Given the description of an element on the screen output the (x, y) to click on. 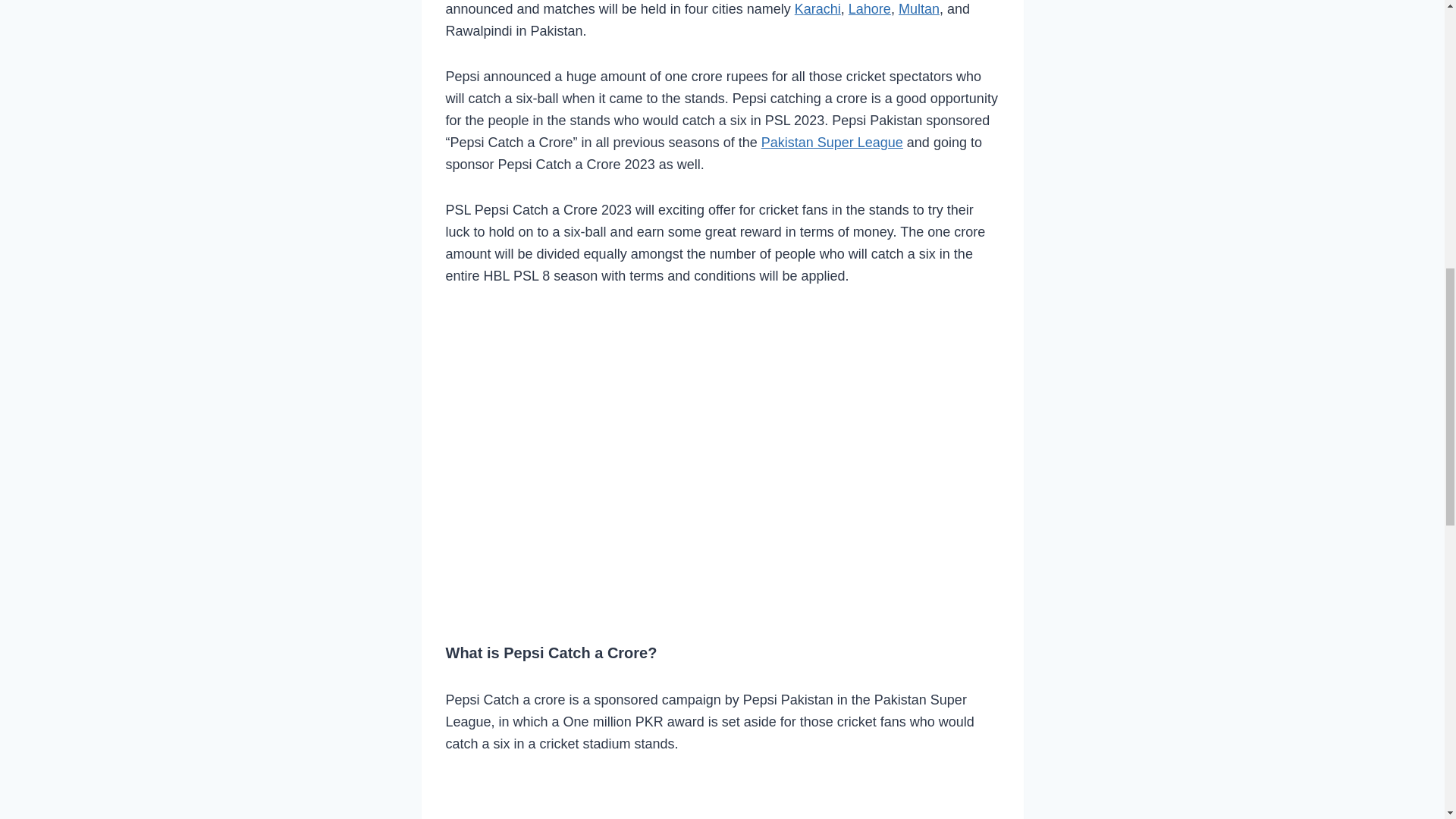
Lahore (869, 8)
Multan (918, 8)
Pakistan Super League (831, 142)
Karachi (817, 8)
